Given the description of an element on the screen output the (x, y) to click on. 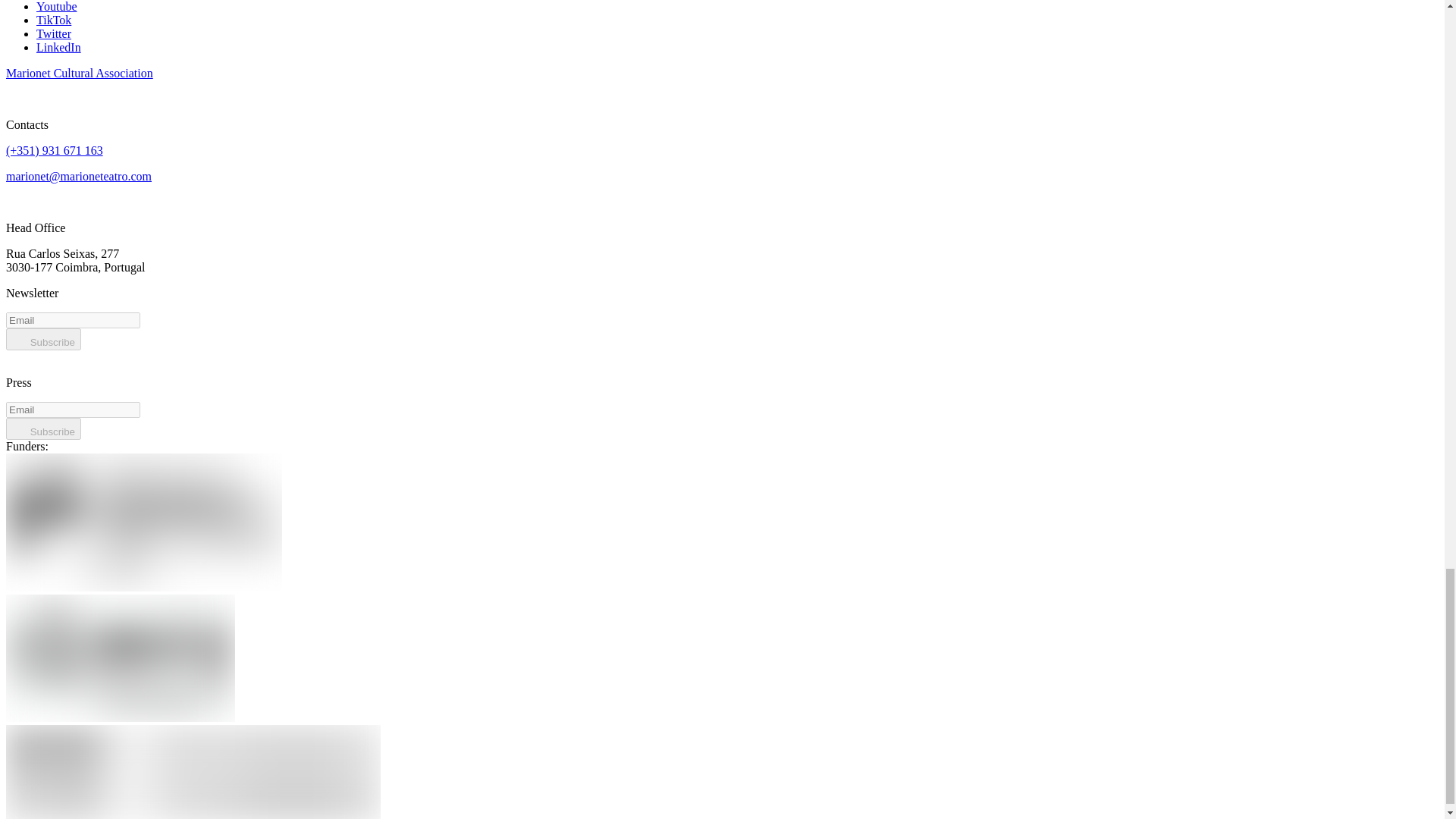
TikTok (53, 19)
LinkedIn (58, 47)
Subscribe (43, 339)
Subscribe (43, 428)
Youtube (56, 6)
Marionet Cultural Association (78, 72)
Twitter (53, 33)
